Given the description of an element on the screen output the (x, y) to click on. 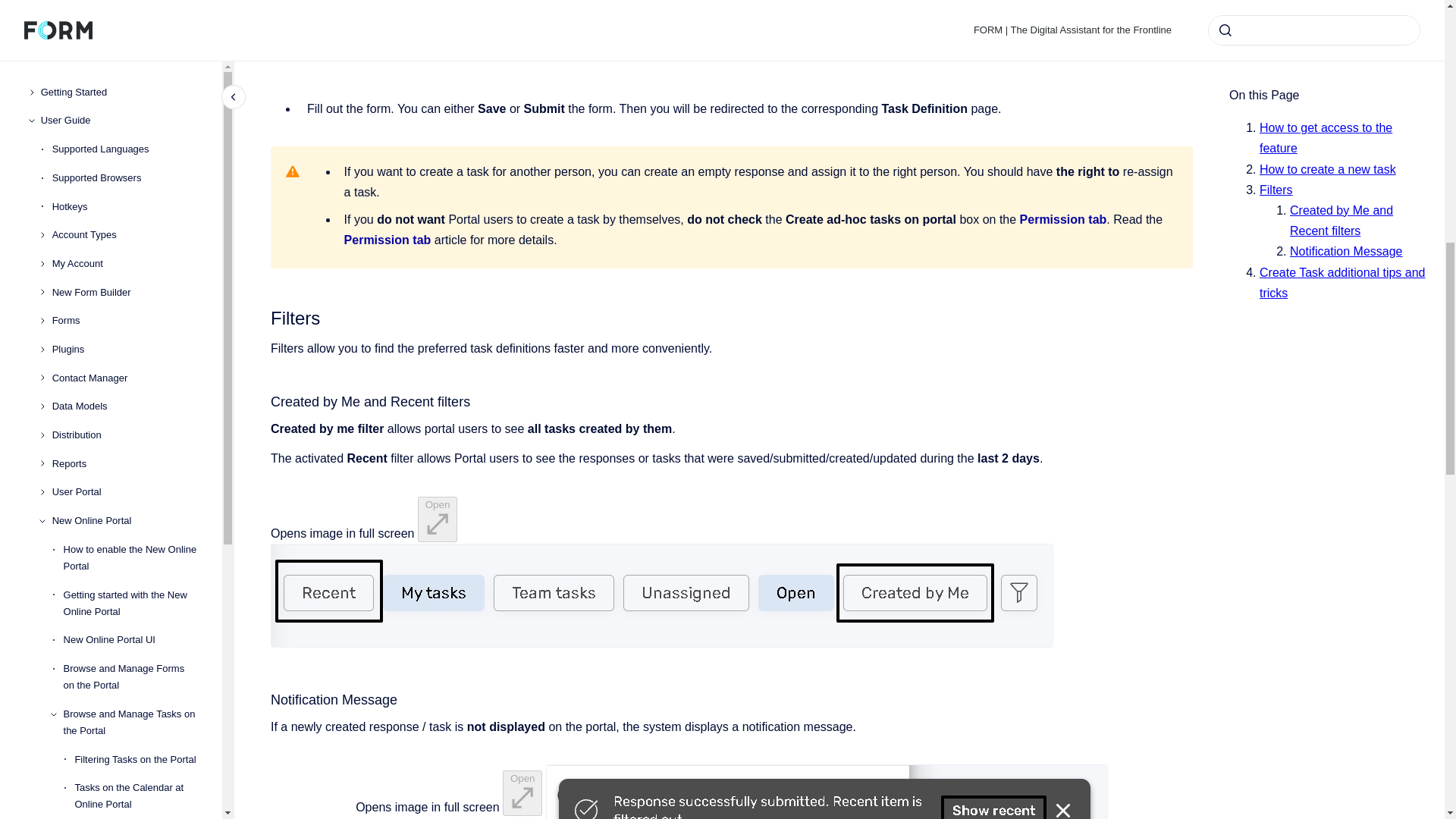
Copy to clipboard (263, 316)
Copy to clipboard (263, 698)
Copy to clipboard (263, 400)
